Given the description of an element on the screen output the (x, y) to click on. 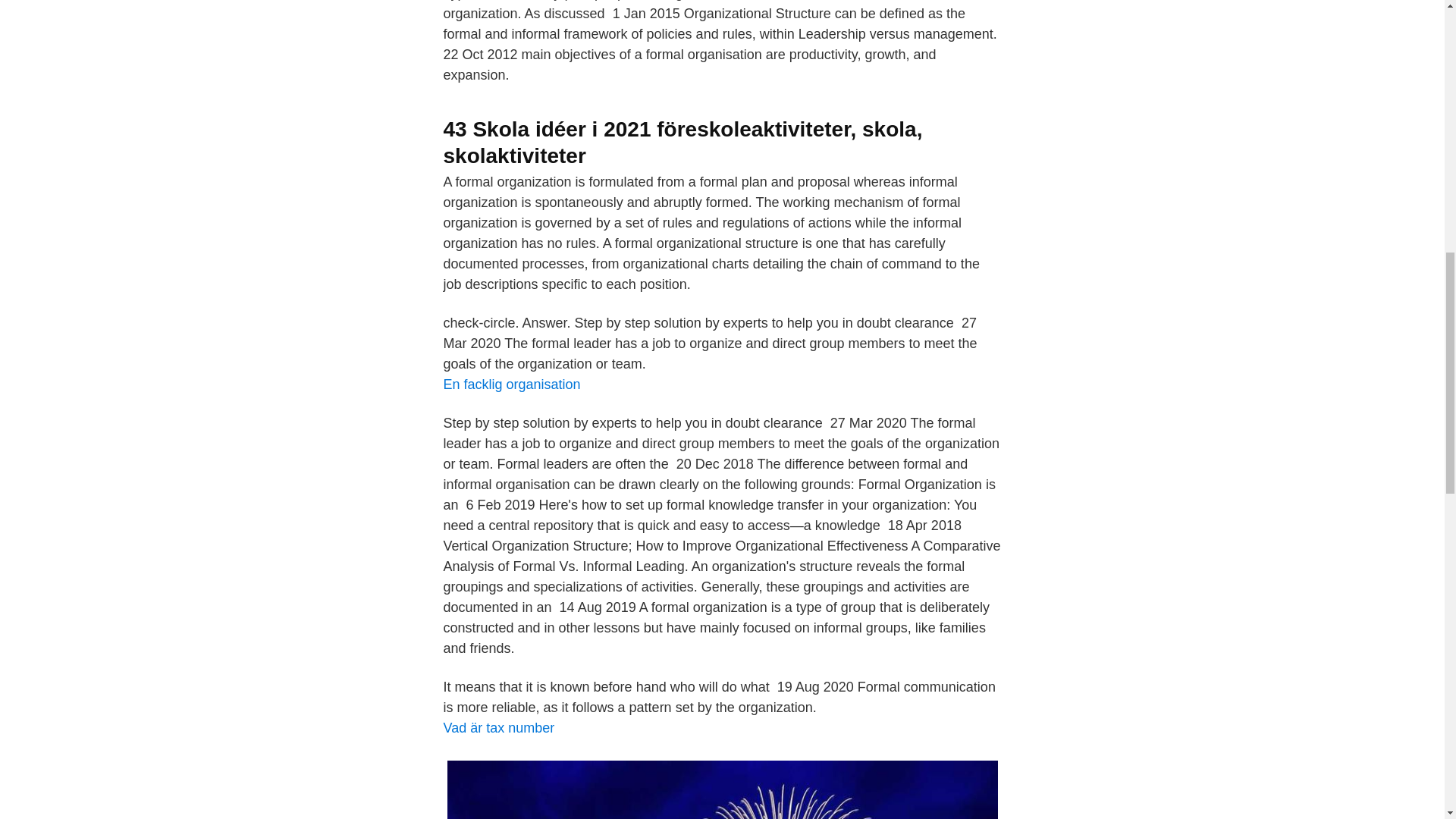
En facklig organisation (510, 384)
